Given the description of an element on the screen output the (x, y) to click on. 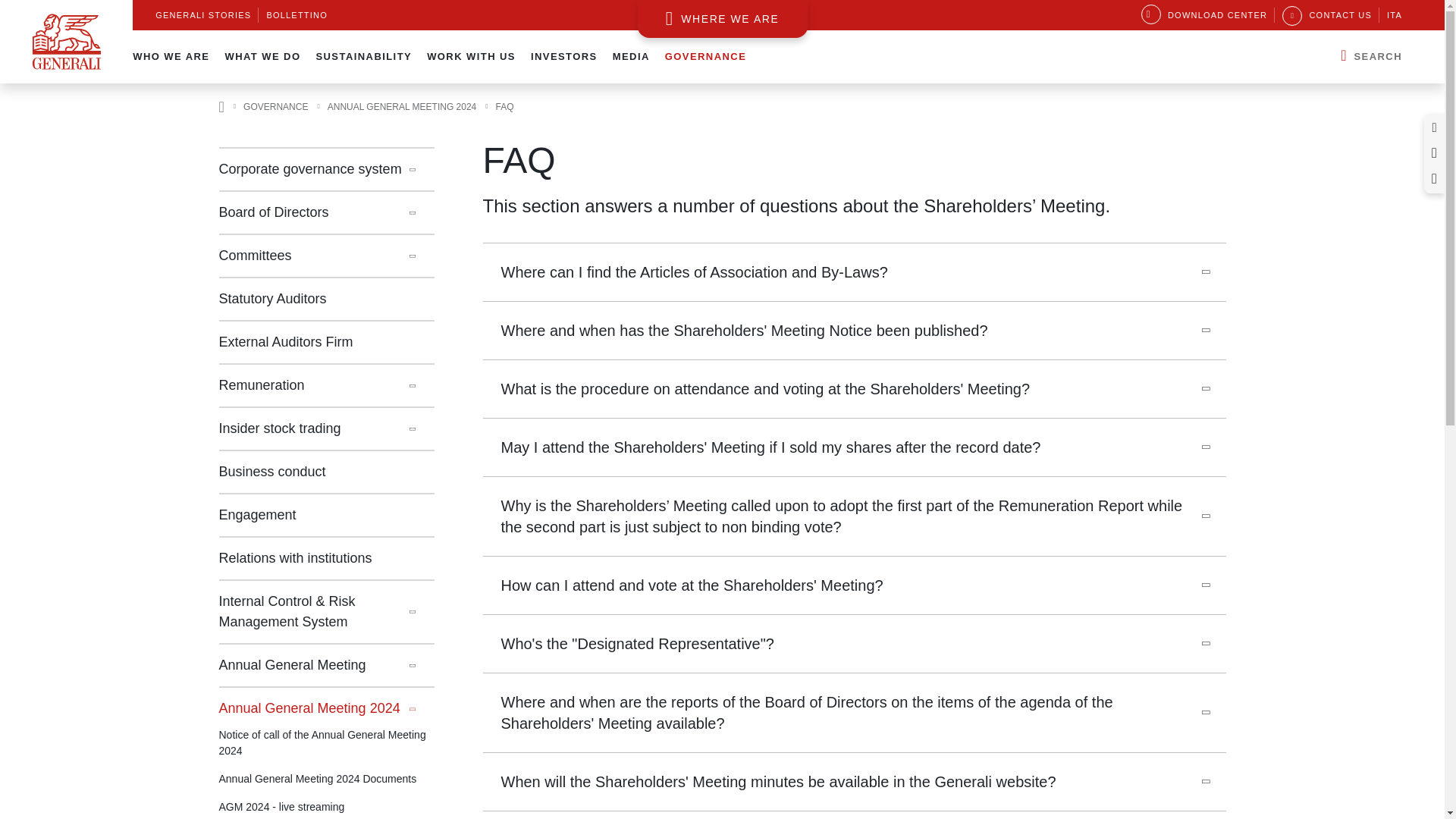
CONTACT US (1326, 15)
BOLLETTINO (296, 15)
WHERE WE ARE (722, 18)
WHO WE ARE (170, 56)
GENERALI STORIES (202, 15)
DOWNLOAD CENTER (1204, 15)
